Given the description of an element on the screen output the (x, y) to click on. 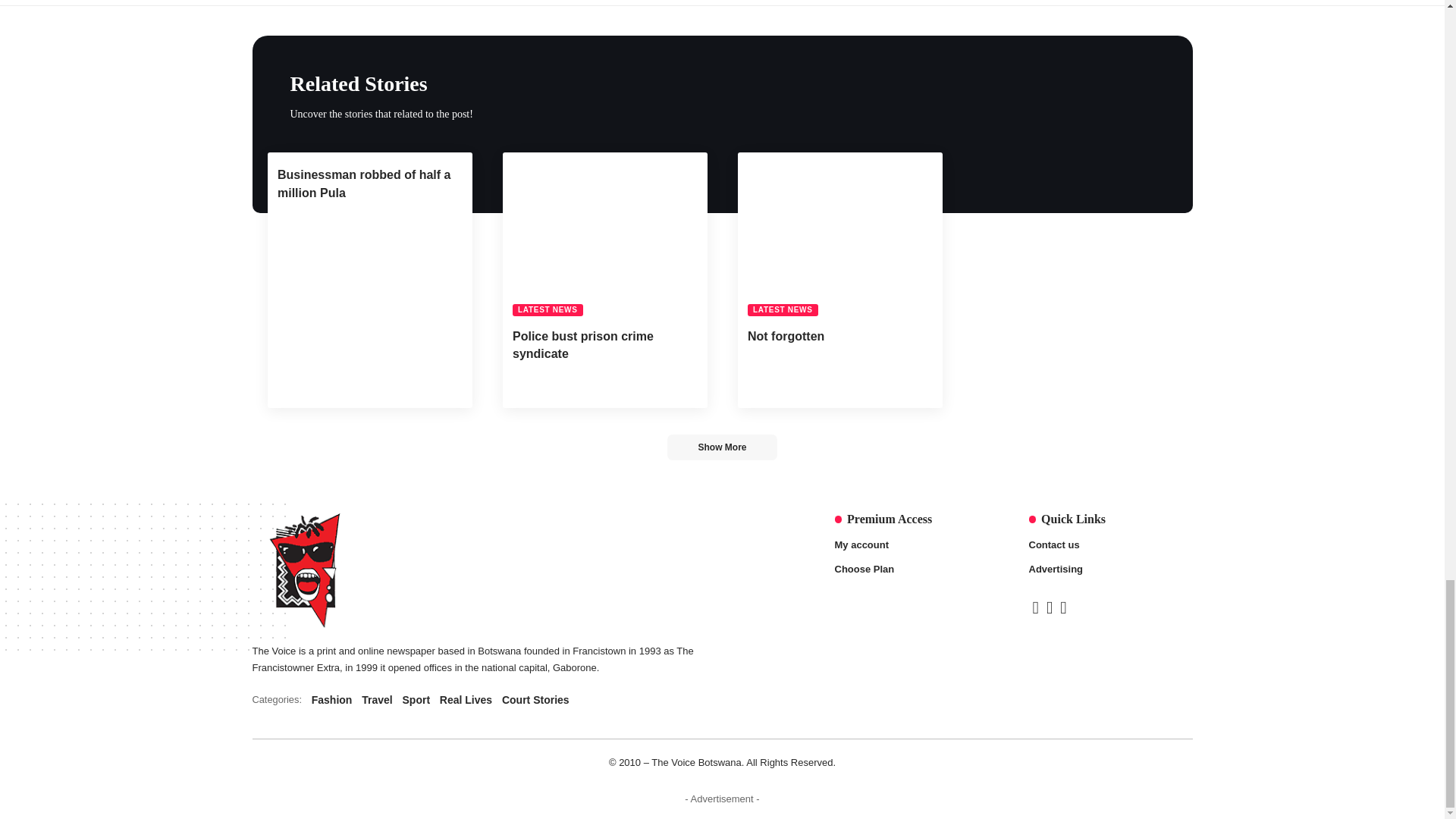
Not forgotten (839, 234)
Police bust prison crime syndicate (498, 700)
